Given the description of an element on the screen output the (x, y) to click on. 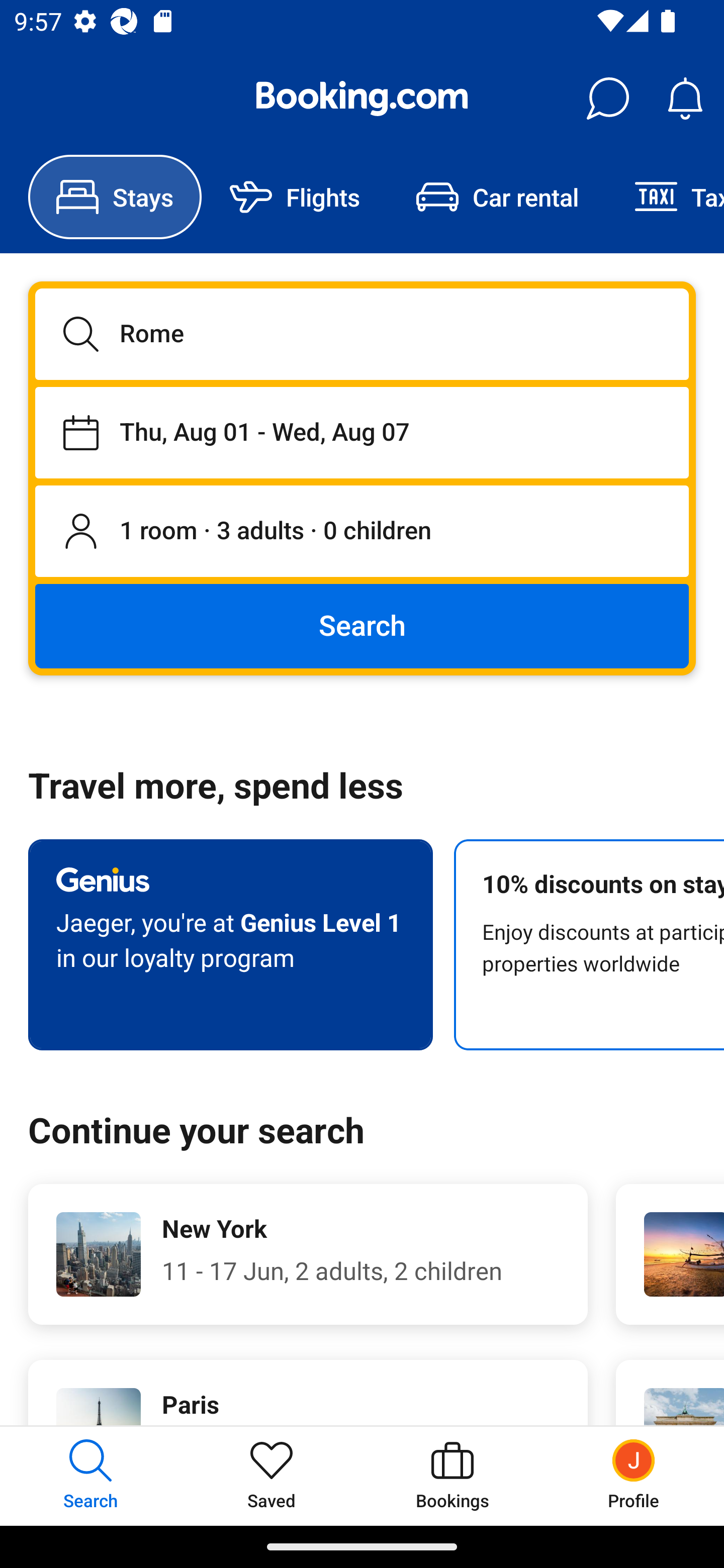
Messages (607, 98)
Notifications (685, 98)
Stays (114, 197)
Flights (294, 197)
Car rental (497, 197)
Taxi (665, 197)
Rome (361, 333)
Staying from Thu, Aug 01 until Wed, Aug 07 (361, 432)
1 room, 3 adults, 0 children (361, 531)
Search (361, 625)
New York 11 - 17 Jun, 2 adults, 2 children (307, 1253)
Saved (271, 1475)
Bookings (452, 1475)
Profile (633, 1475)
